Given the description of an element on the screen output the (x, y) to click on. 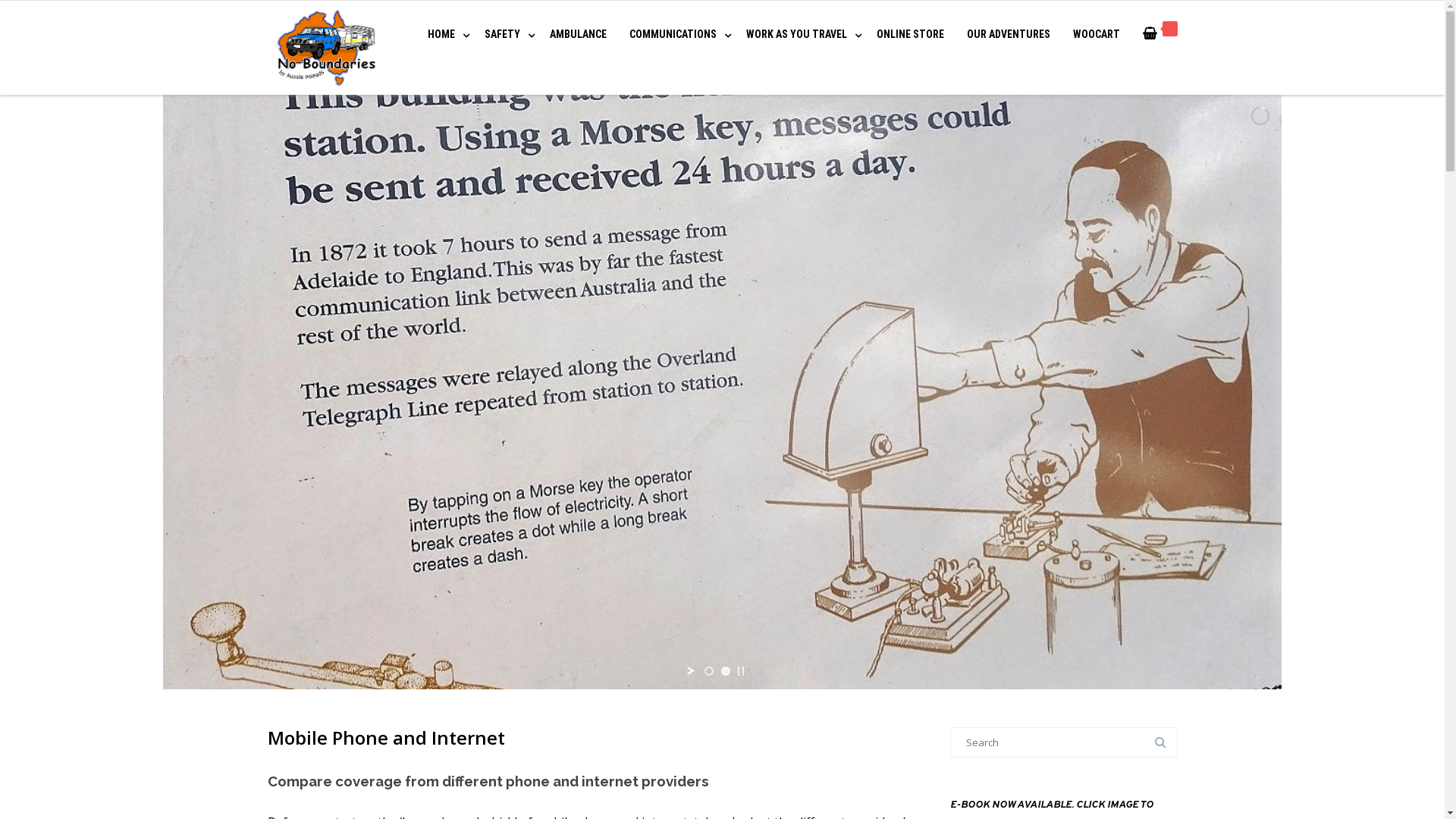
No Boundaries Element type: hover (325, 47)
WORK AS YOU TRAVEL Element type: text (799, 34)
OUR ADVENTURES Element type: text (1007, 34)
Search for: Element type: hover (1062, 742)
ONLINE STORE Element type: text (910, 34)
SAFETY Element type: text (504, 34)
AMBULANCE Element type: text (577, 34)
WOOCART Element type: text (1095, 34)
HOME Element type: text (444, 34)
COMMUNICATIONS Element type: text (676, 34)
